Given the description of an element on the screen output the (x, y) to click on. 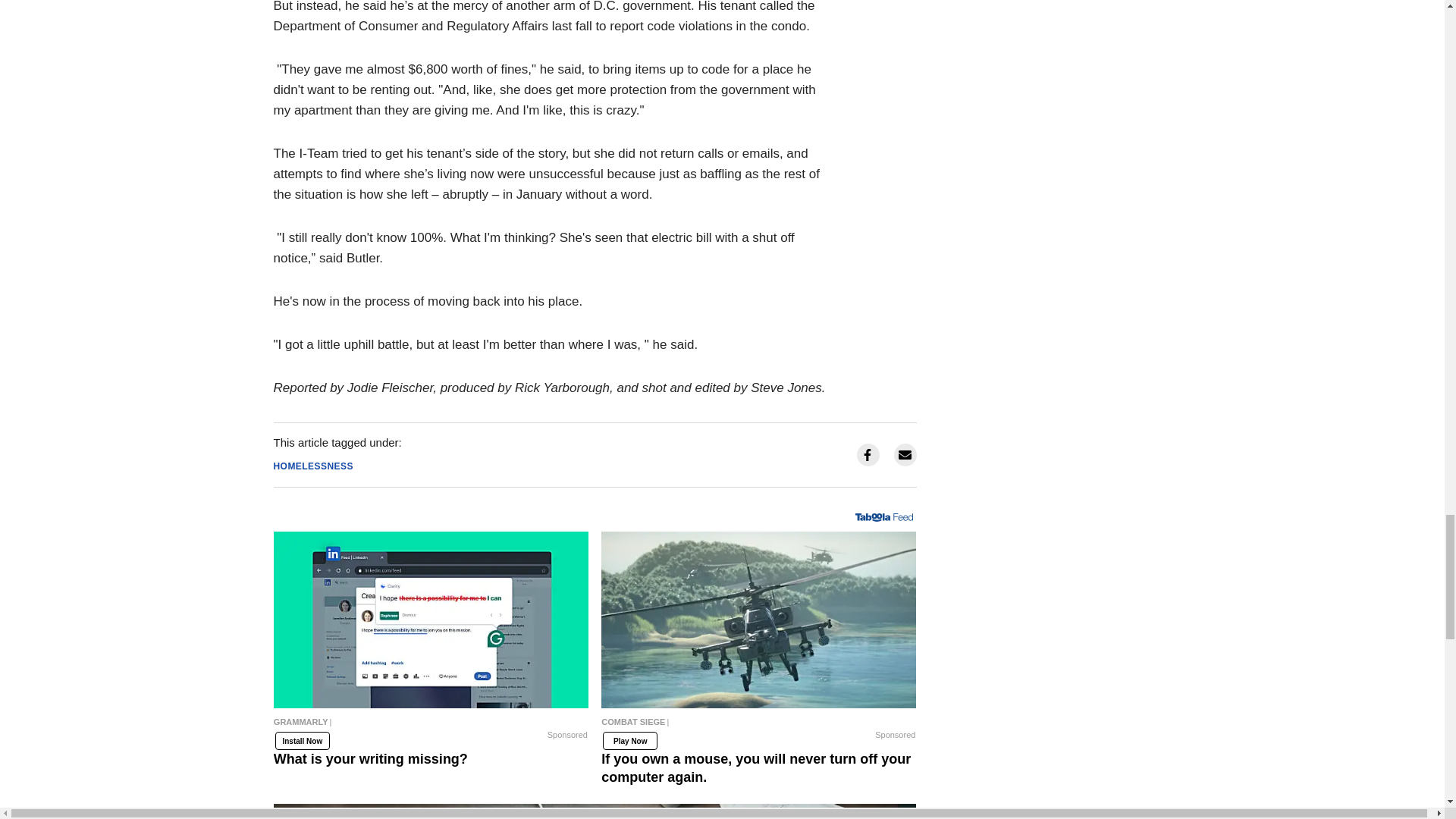
What is your writing missing? (430, 725)
Use an AI Writing Tool That Actually Understands Your Voice (595, 811)
What is your writing missing? (430, 620)
